Given the description of an element on the screen output the (x, y) to click on. 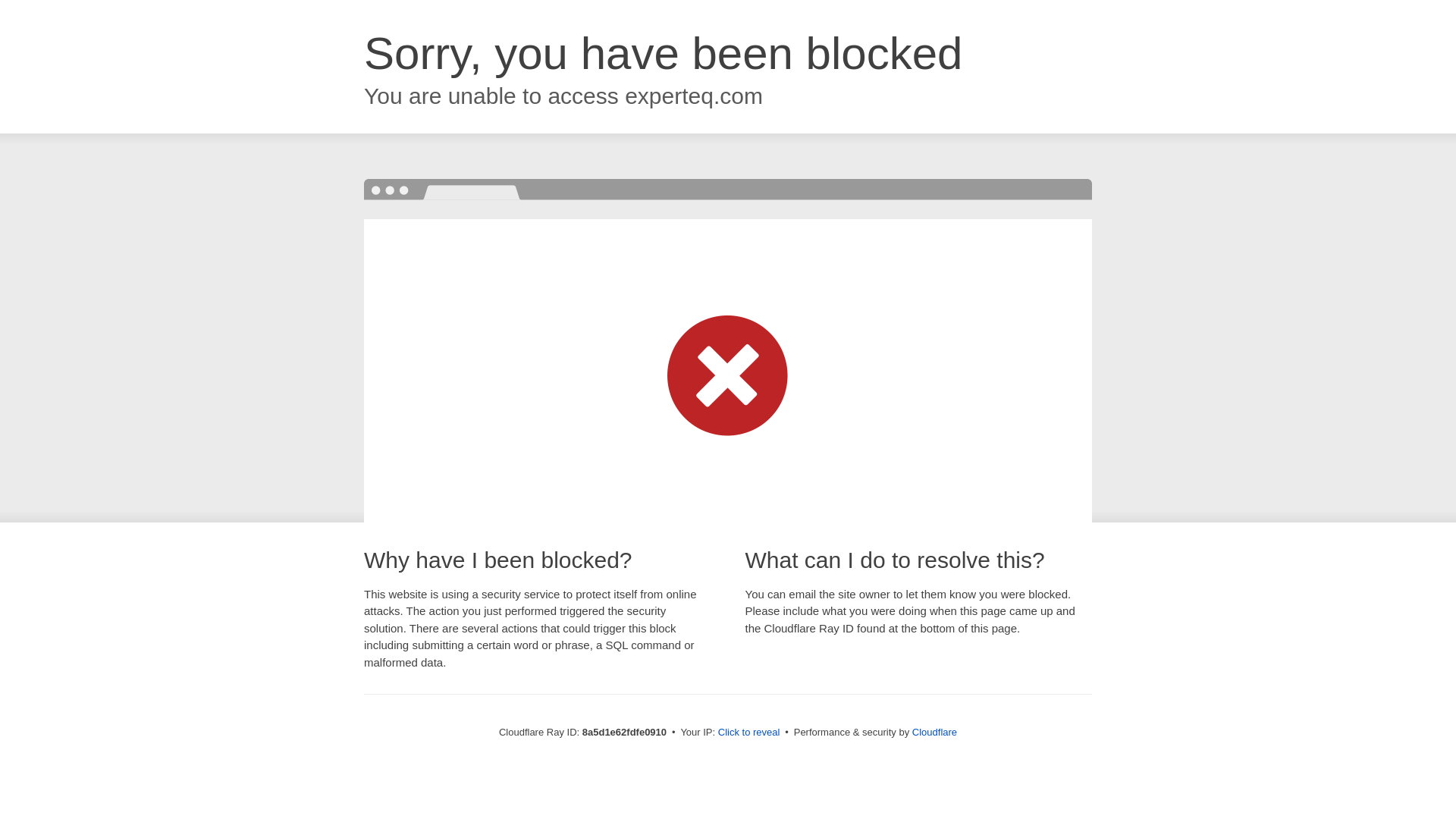
Cloudflare (934, 731)
Click to reveal (748, 732)
